Given the description of an element on the screen output the (x, y) to click on. 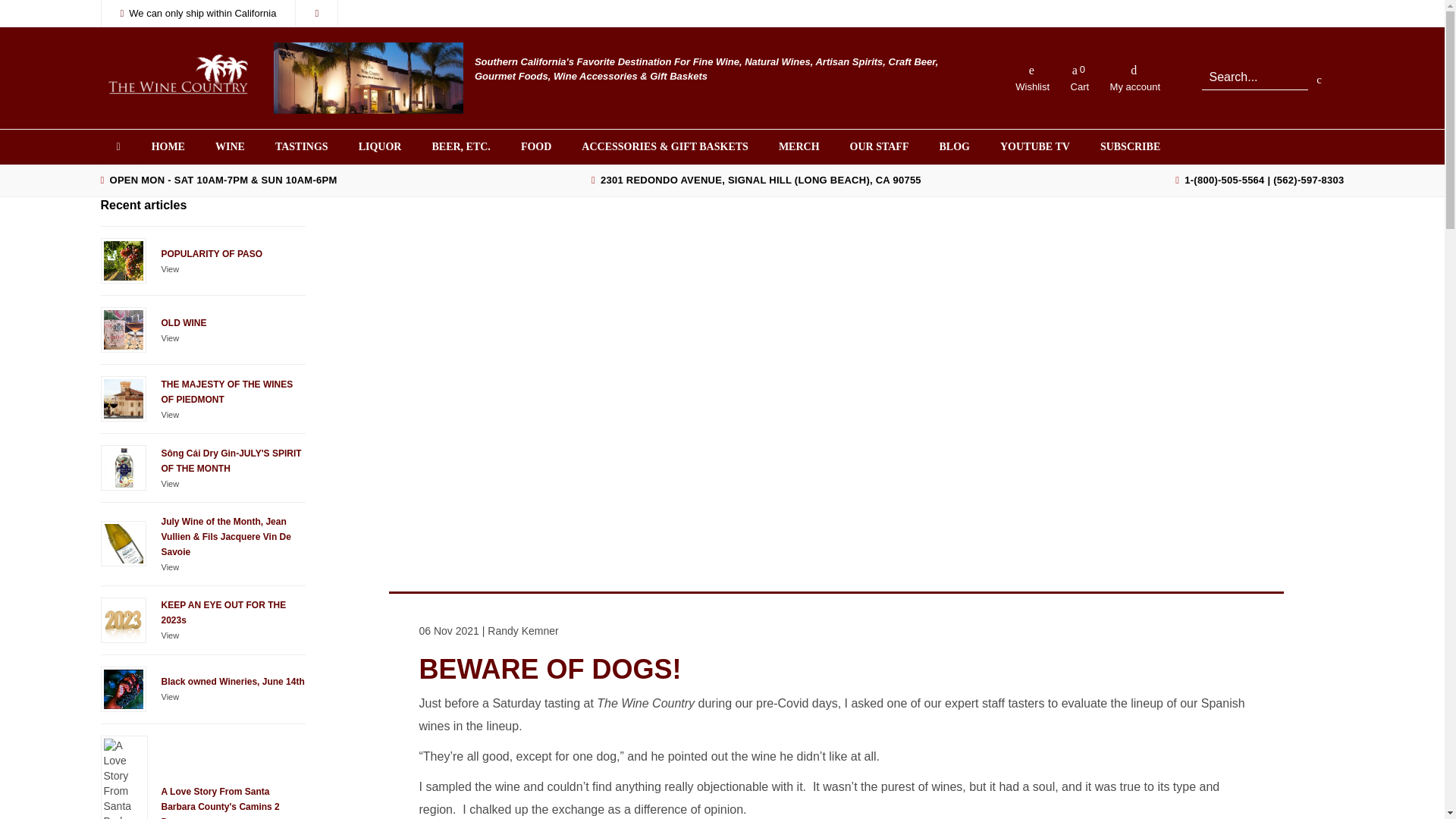
Tastings (301, 146)
Cart (1079, 77)
My account (1133, 77)
Search (1254, 78)
Blog (953, 146)
Wine (230, 146)
Beer, etc. (460, 146)
Our Staff (879, 146)
MERCH (798, 146)
Home (168, 146)
YouTube TV (1034, 146)
Wish List (1031, 77)
Food  (535, 146)
Liquor  (379, 146)
